Given the description of an element on the screen output the (x, y) to click on. 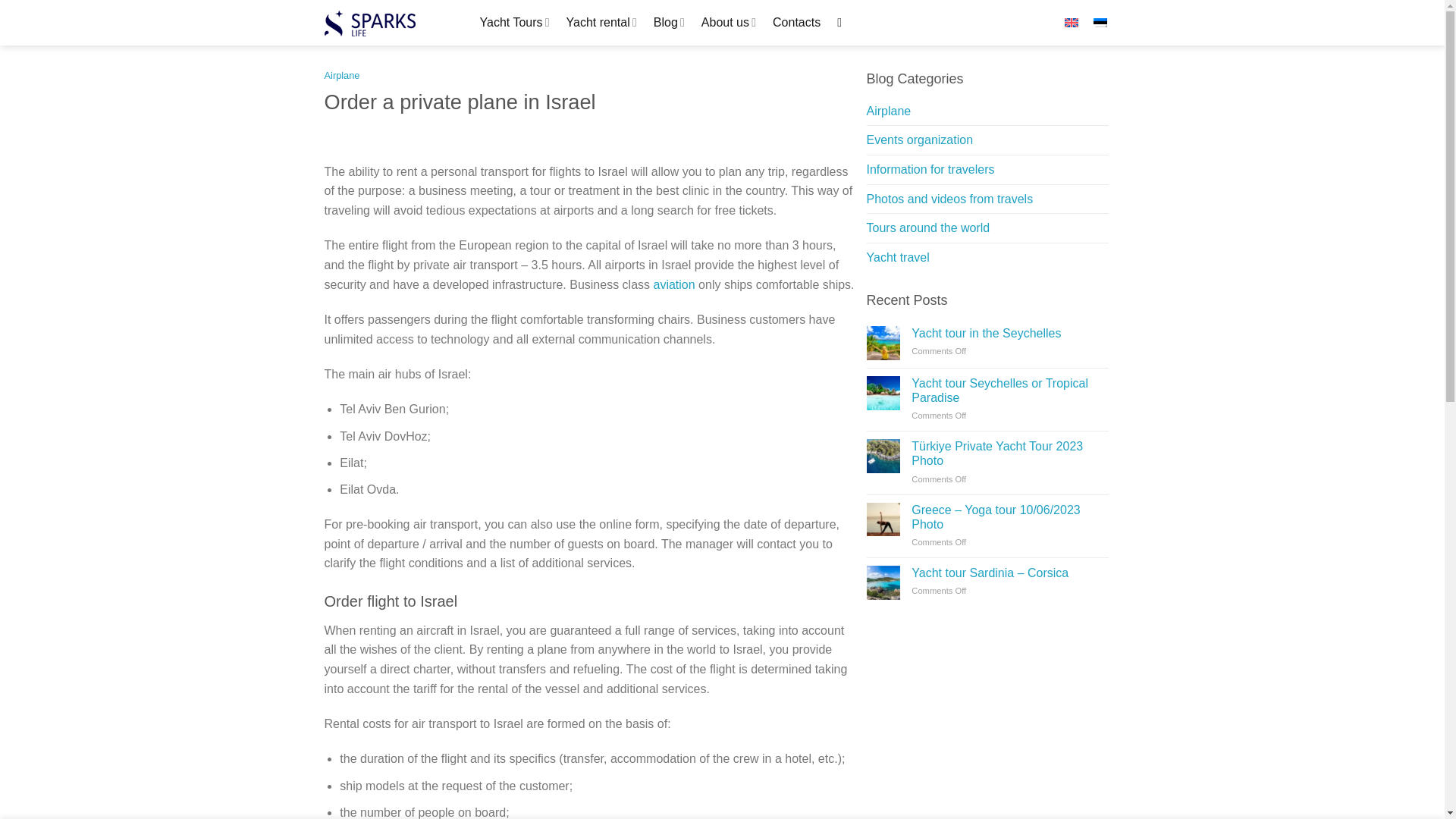
Blog (668, 22)
Yacht tour in the Seychelles (1009, 332)
About us (728, 22)
Yacht rental (601, 22)
Yacht Tours (513, 22)
Yacht tour Seychelles or Tropical Paradise (1009, 389)
Aircraft rental - private aviation (674, 284)
